Given the description of an element on the screen output the (x, y) to click on. 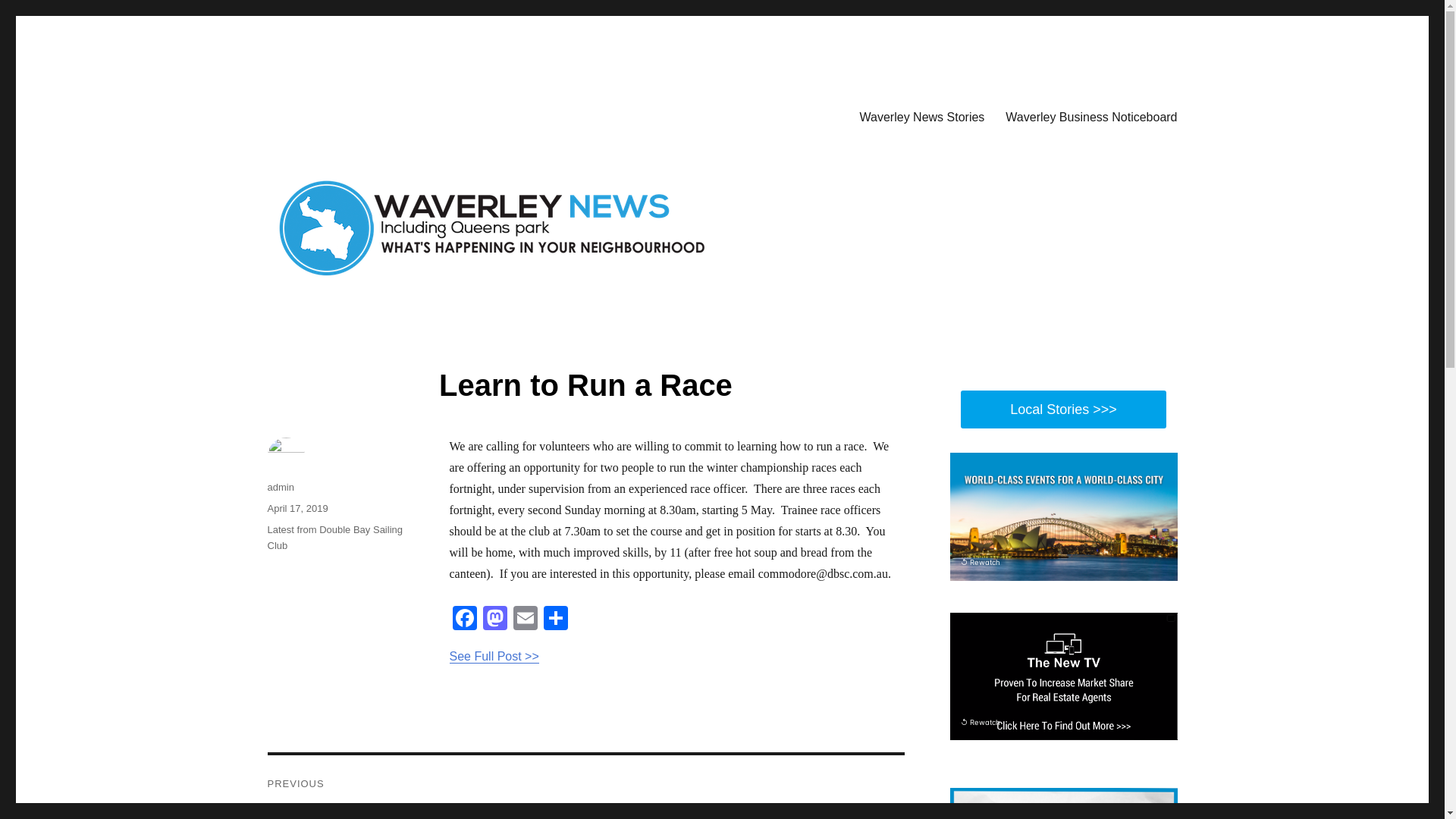
Mastodon (494, 619)
Share (555, 619)
Facebook (463, 619)
Email (524, 619)
Facebook (463, 619)
Mastodon (494, 619)
Waverley News Stories (921, 116)
Email (524, 619)
April 17, 2019 (296, 508)
Waverley News (585, 787)
Latest from Double Bay Sailing Club (343, 114)
admin (333, 537)
Waverley Business Noticeboard (280, 487)
